Given the description of an element on the screen output the (x, y) to click on. 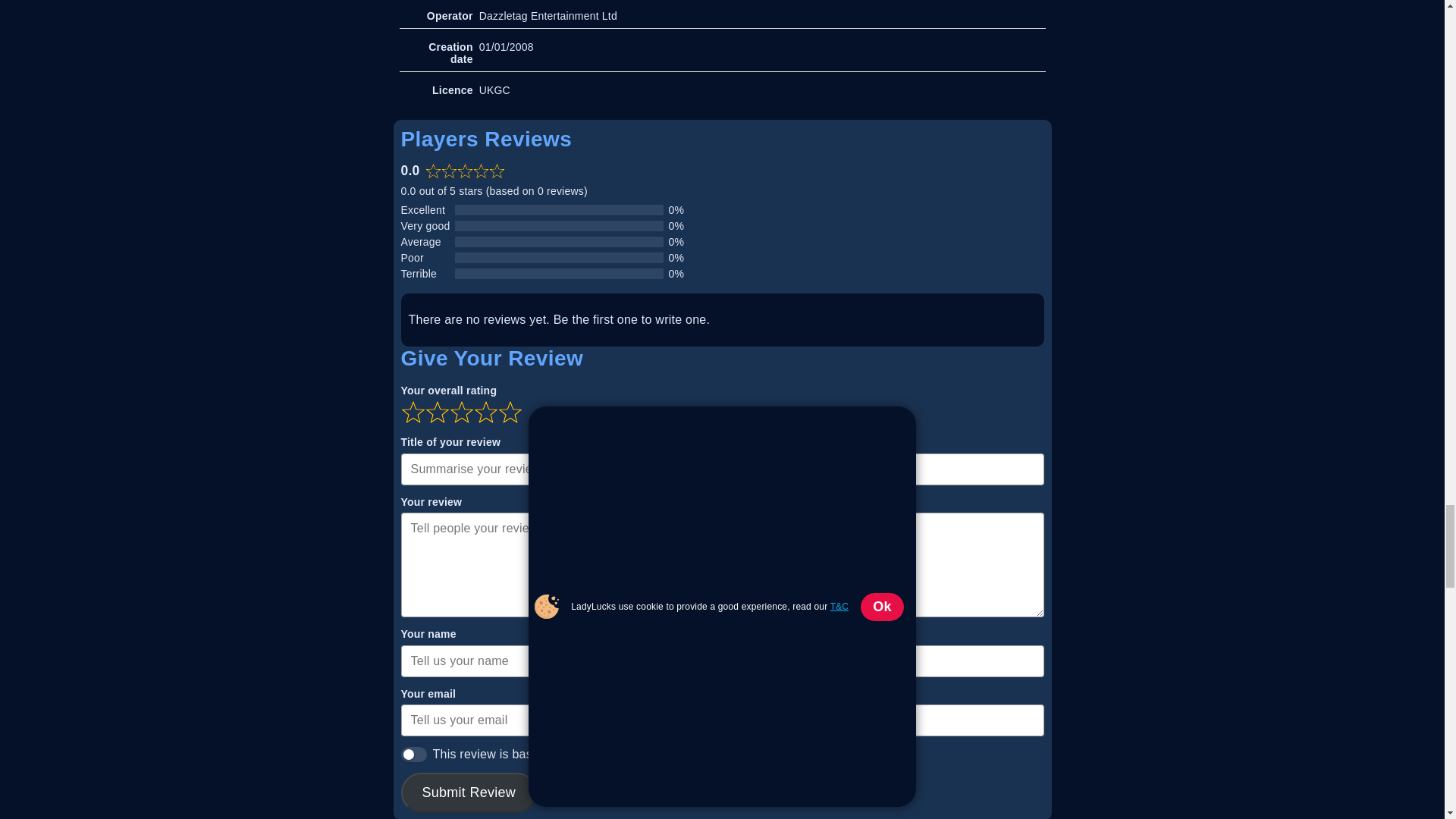
Submit Review (468, 793)
1 (413, 754)
